Given the description of an element on the screen output the (x, y) to click on. 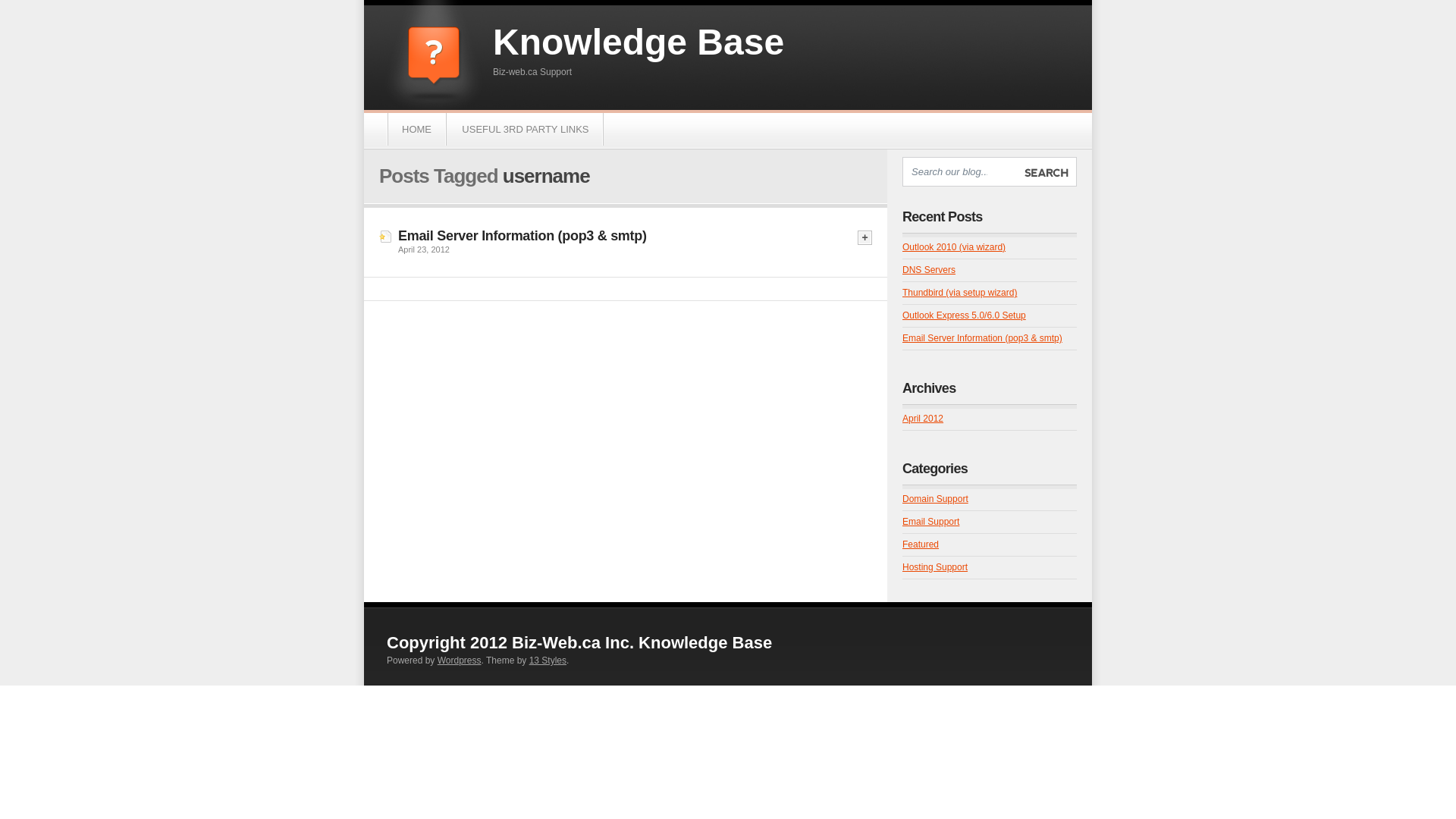
Thundbird (via setup wizard) Element type: text (959, 292)
Email Server Information (pop3 & smtp) Element type: text (522, 235)
+ Element type: text (864, 237)
Outlook 2010 (via wizard) Element type: text (953, 246)
Email Server Information (pop3 & smtp) Element type: text (982, 337)
Featured Element type: text (920, 544)
Knowledge Base Element type: text (638, 41)
USEFUL 3RD PARTY LINKS Element type: text (524, 128)
Wordpress Element type: text (459, 660)
Hosting Support Element type: text (934, 566)
Email Support Element type: text (930, 521)
Outlook Express 5.0/6.0 Setup Element type: text (964, 315)
DNS Servers Element type: text (928, 269)
Domain Support Element type: text (935, 498)
13 Styles Element type: text (547, 660)
HOME Element type: text (416, 128)
April 2012 Element type: text (922, 418)
